Given the description of an element on the screen output the (x, y) to click on. 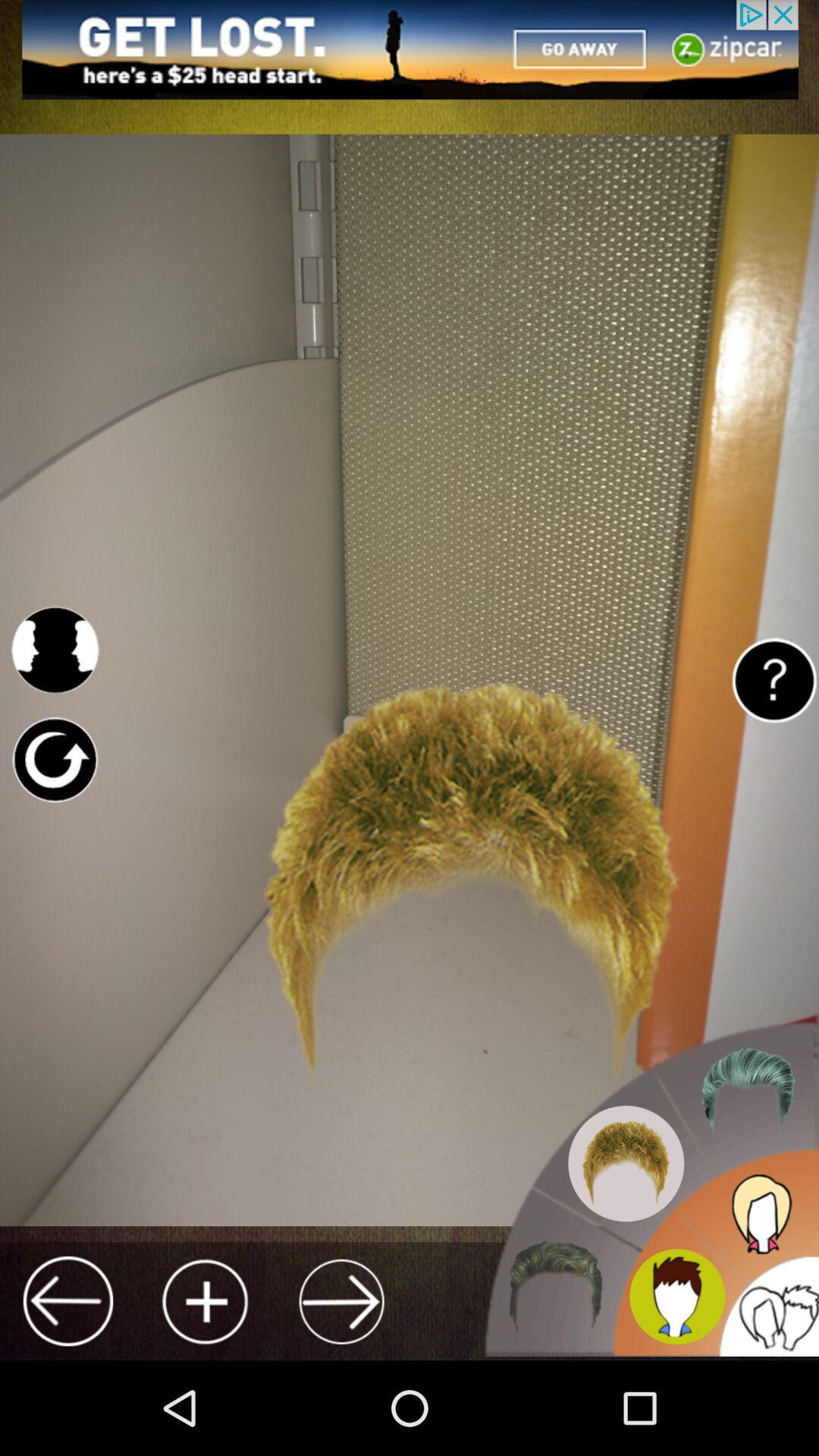
reloading the option (55, 759)
